Given the description of an element on the screen output the (x, y) to click on. 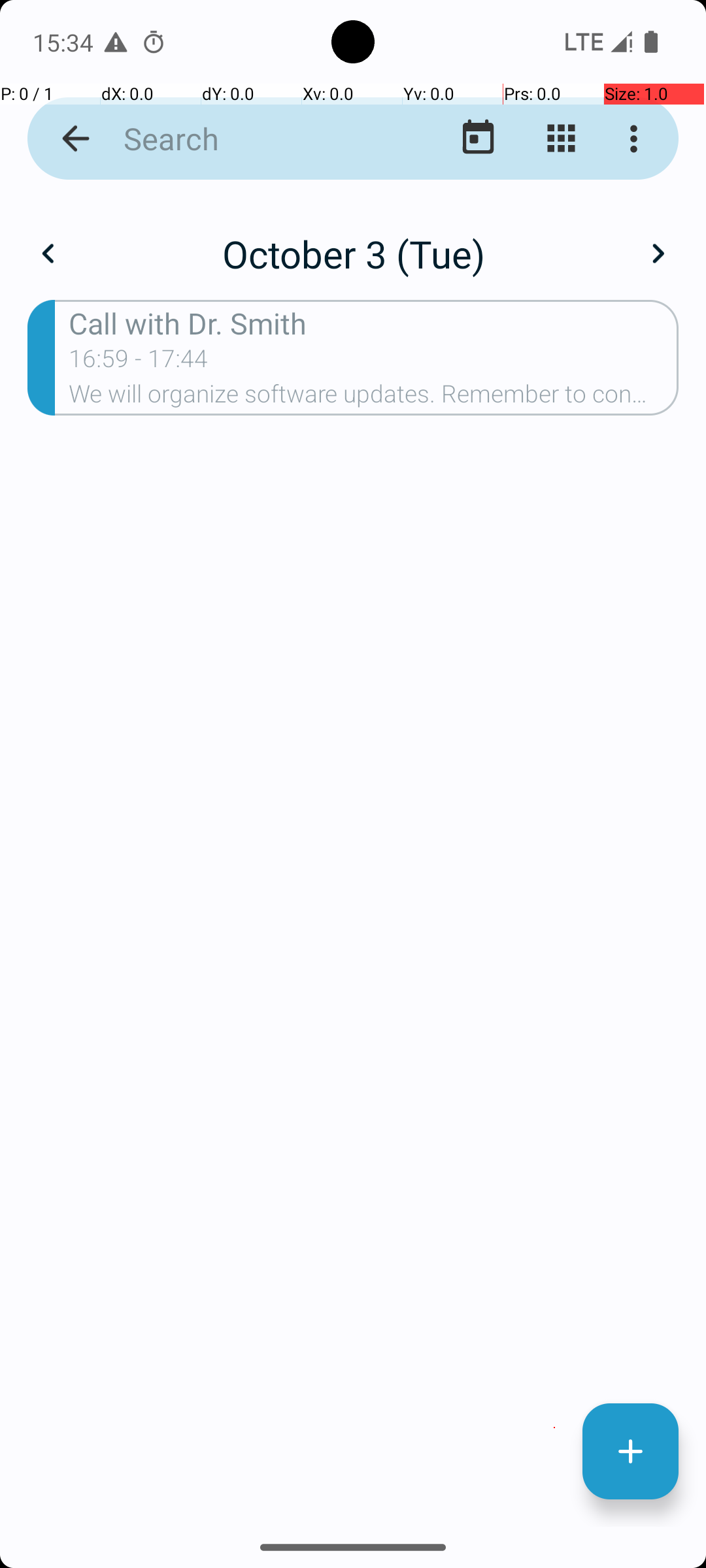
October 3 (Tue) Element type: android.widget.TextView (352, 253)
Call with Dr. Smith Element type: android.widget.TextView (373, 321)
16:59 - 17:44 Element type: android.widget.TextView (137, 362)
We will organize software updates. Remember to confirm attendance. Element type: android.widget.TextView (373, 397)
